Given the description of an element on the screen output the (x, y) to click on. 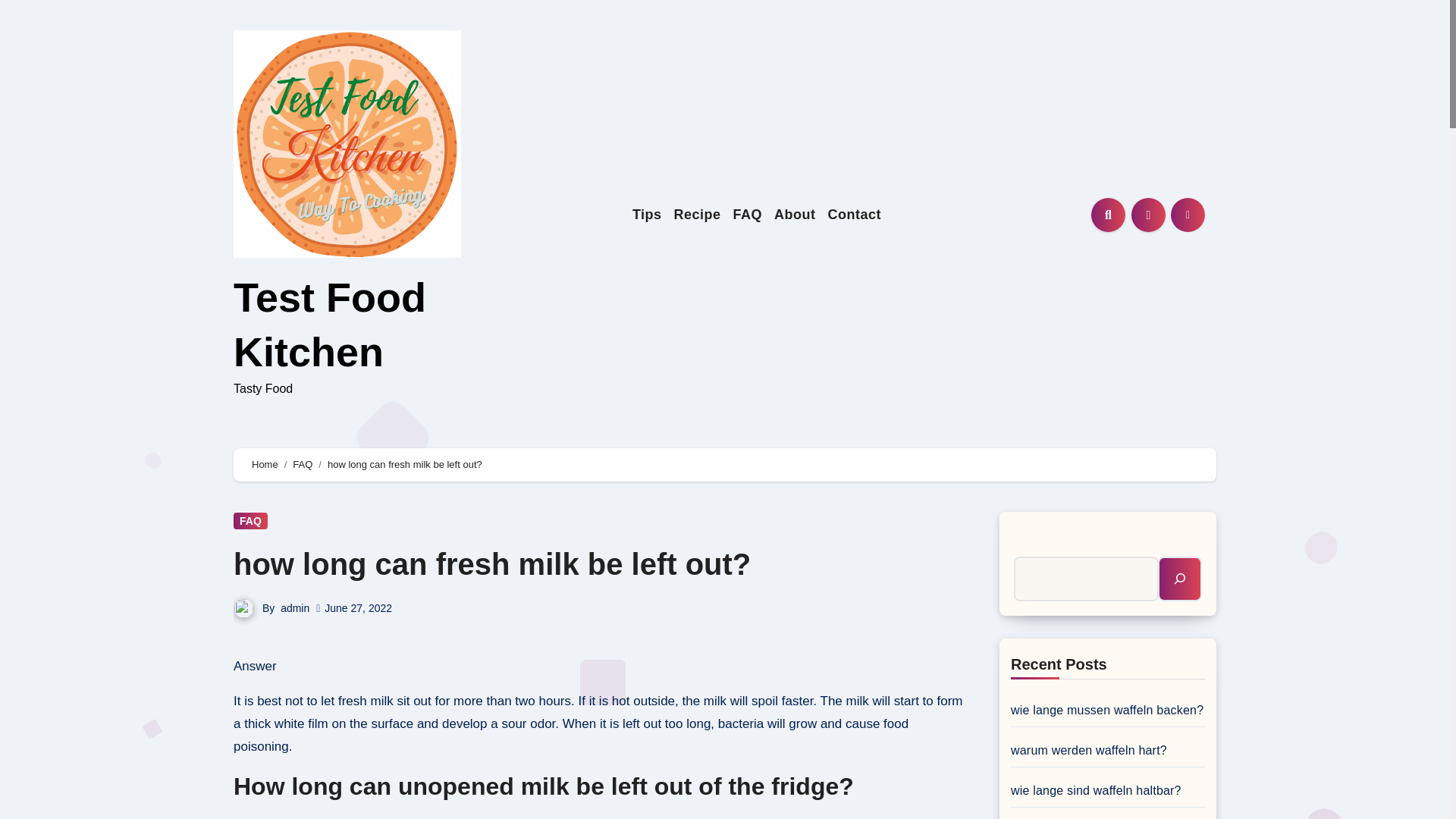
Tips (647, 214)
FAQ (747, 214)
How long can unopened milk be left out of the fridge? (599, 813)
Home (264, 464)
Contact (855, 214)
Recipe (697, 214)
About (794, 214)
Permalink to: how long can fresh milk be left out? (491, 563)
admin (294, 607)
how long can fresh milk be left out? (491, 563)
